Given the description of an element on the screen output the (x, y) to click on. 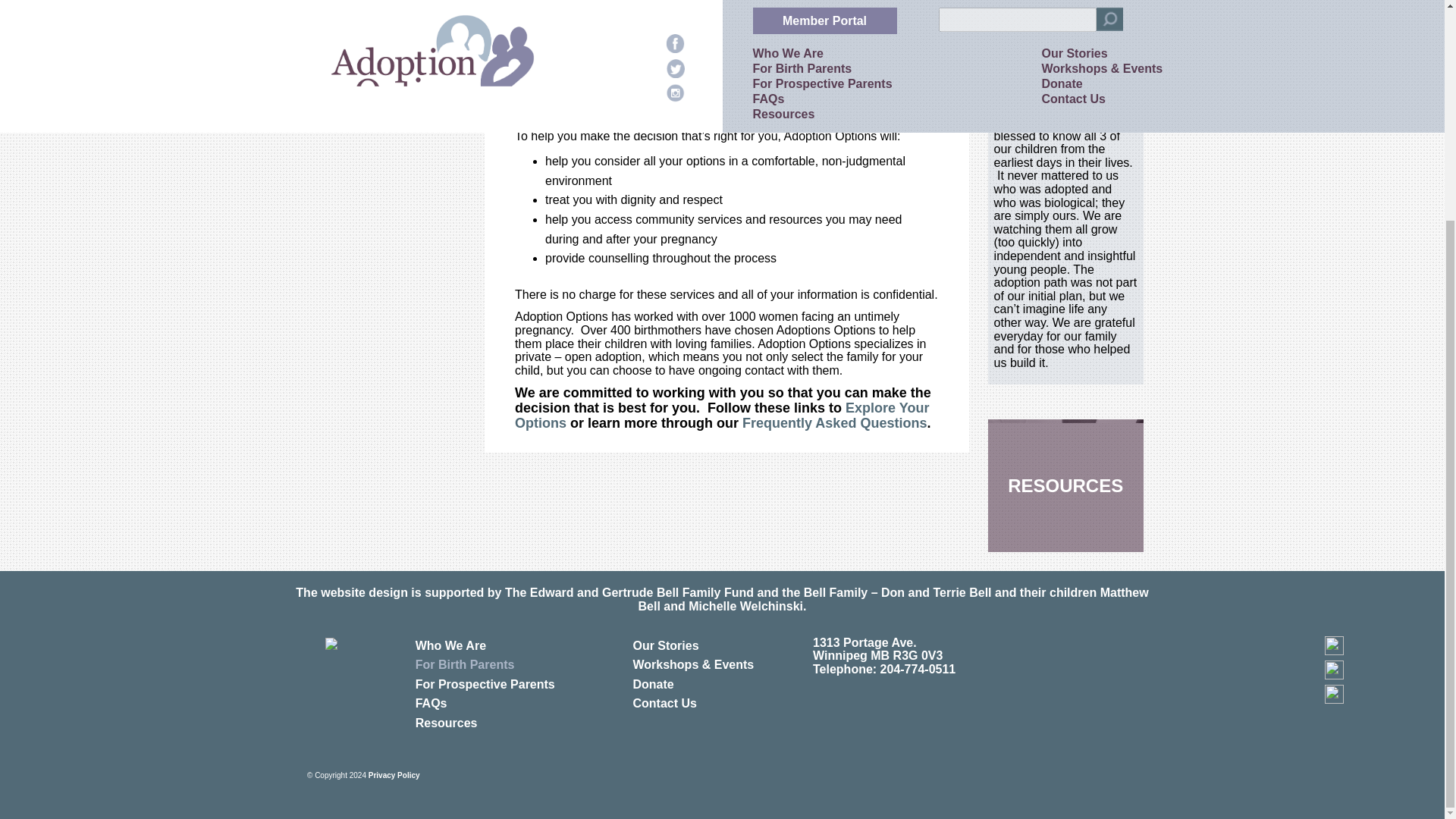
RESOURCES (1065, 485)
If You Are In Crisis (375, 81)
Who We Are (484, 646)
For Prospective Parents (484, 684)
Explore Your Options (721, 415)
Our Adoption Journey (1039, 45)
For Birth Parents (484, 664)
Explore Your Options (384, 52)
Frequently Asked Questions (834, 422)
